Given the description of an element on the screen output the (x, y) to click on. 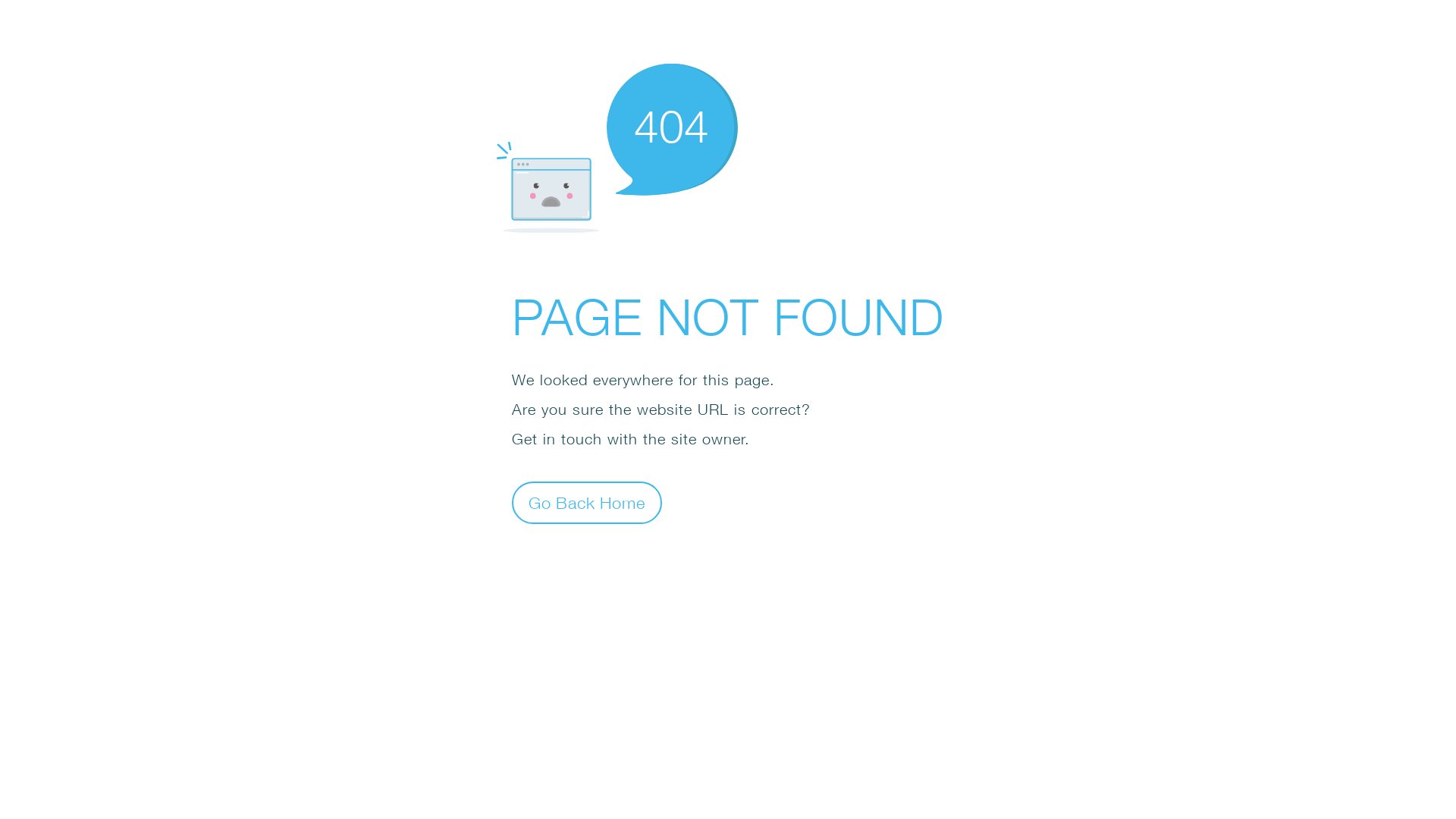
Go Back Home Element type: text (586, 502)
